Given the description of an element on the screen output the (x, y) to click on. 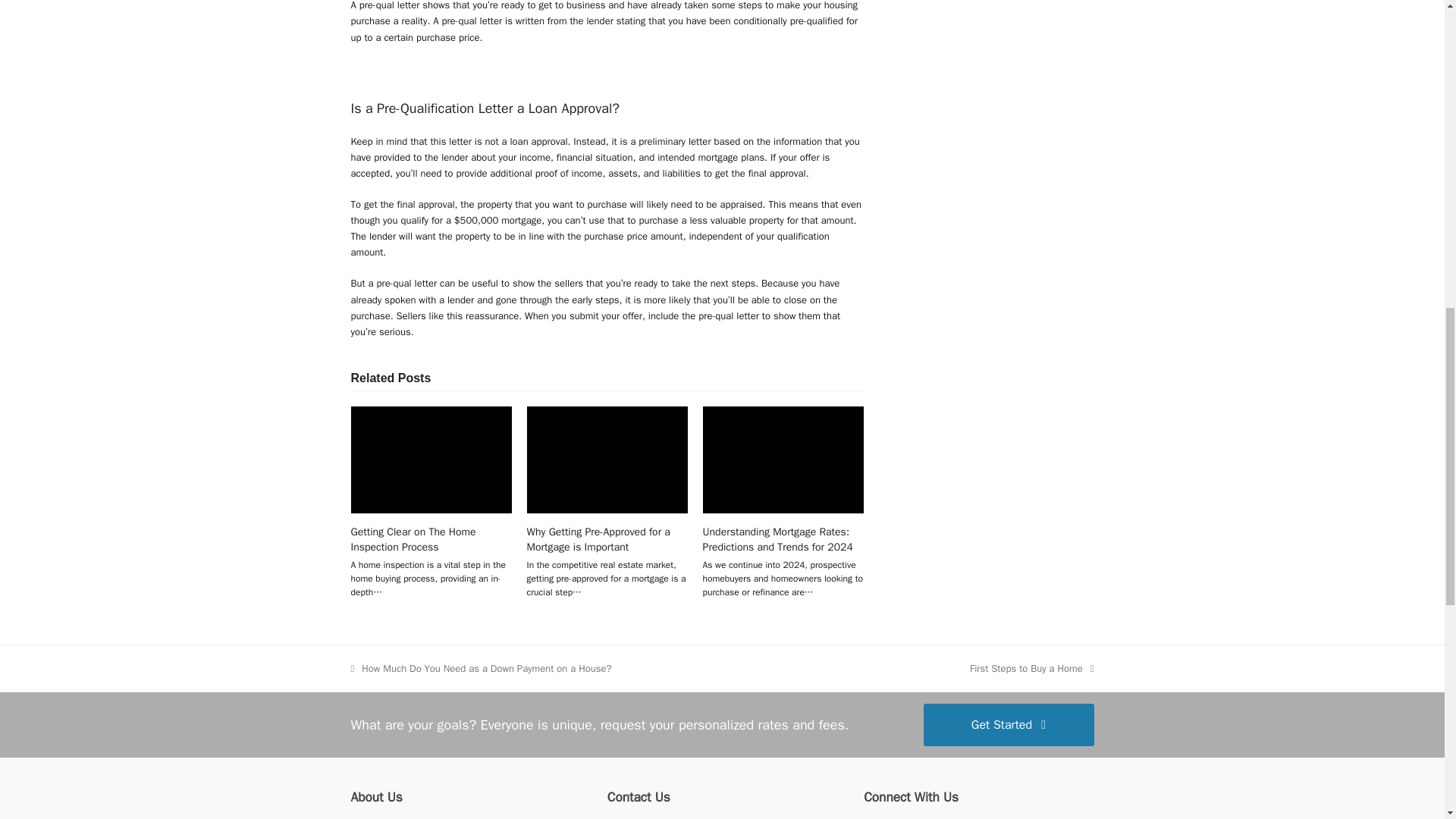
Getting Clear on The Home Inspection Process (430, 459)
Why Getting Pre-Approved for a Mortgage is Important (607, 459)
Getting Clear on The Home Inspection Process (413, 538)
Why Getting Pre-Approved for a Mortgage is Important (598, 538)
